Given the description of an element on the screen output the (x, y) to click on. 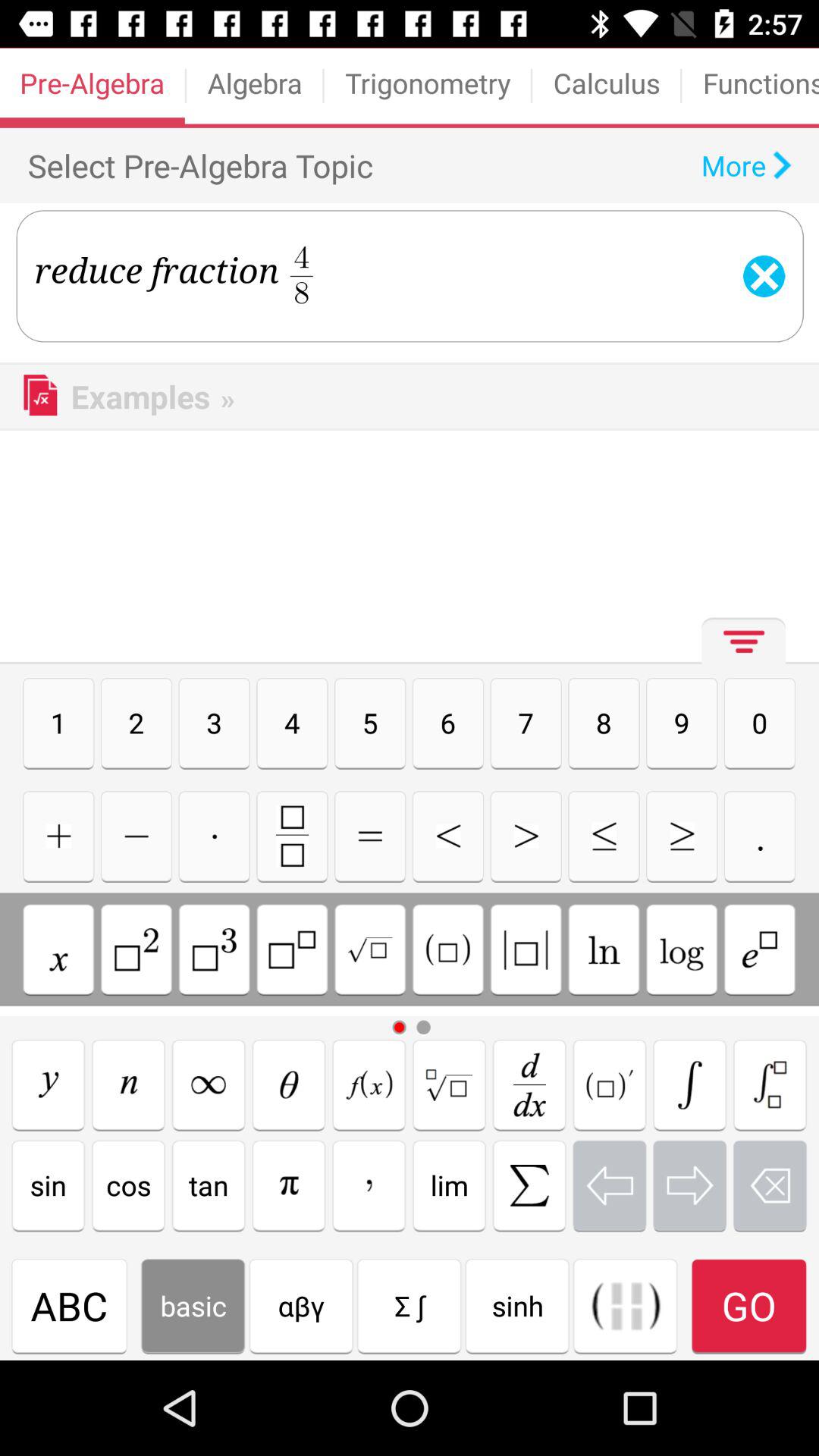
keyboard input symbols (529, 1185)
